Given the description of an element on the screen output the (x, y) to click on. 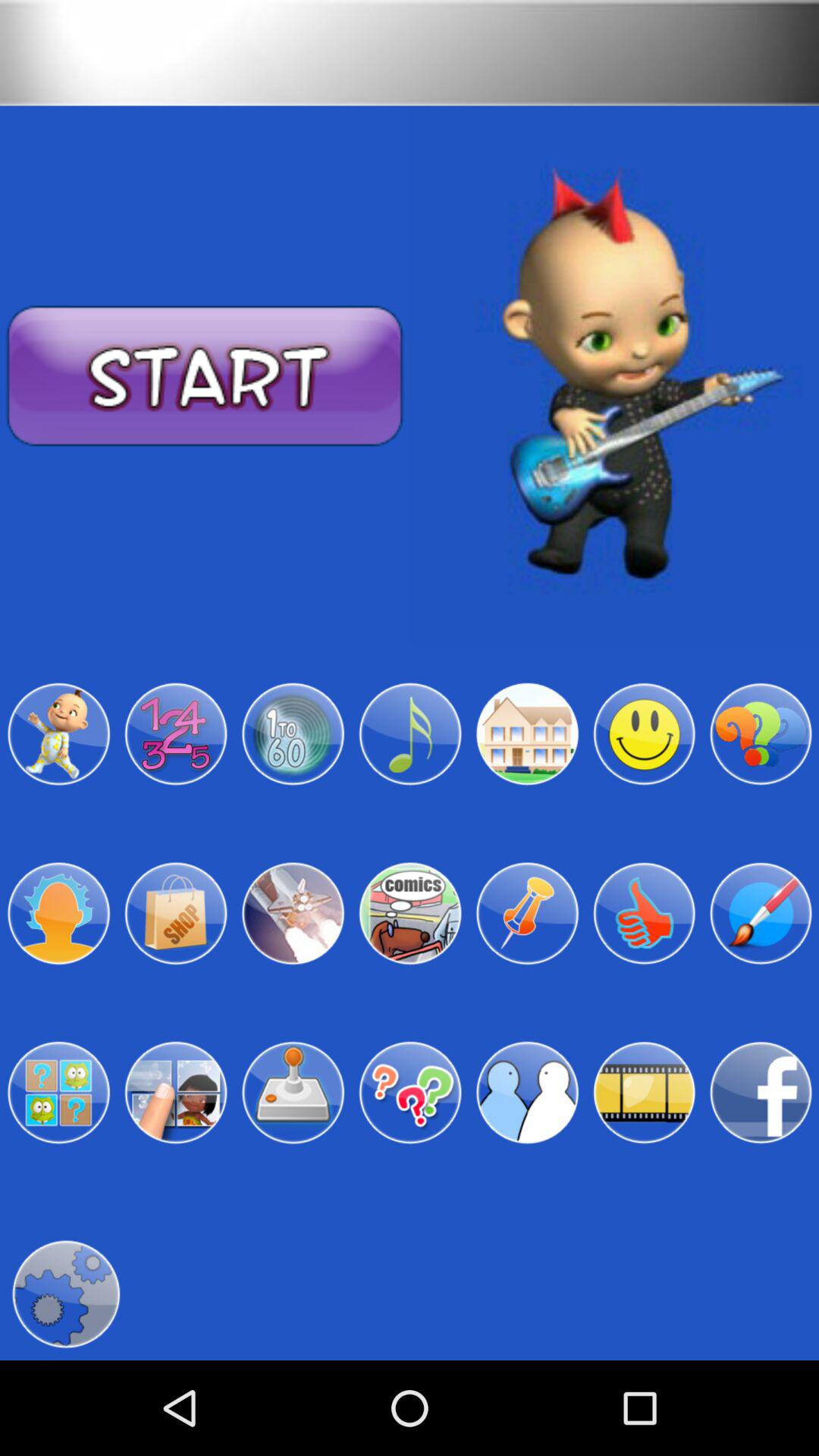
joystick avatar (292, 1092)
